Given the description of an element on the screen output the (x, y) to click on. 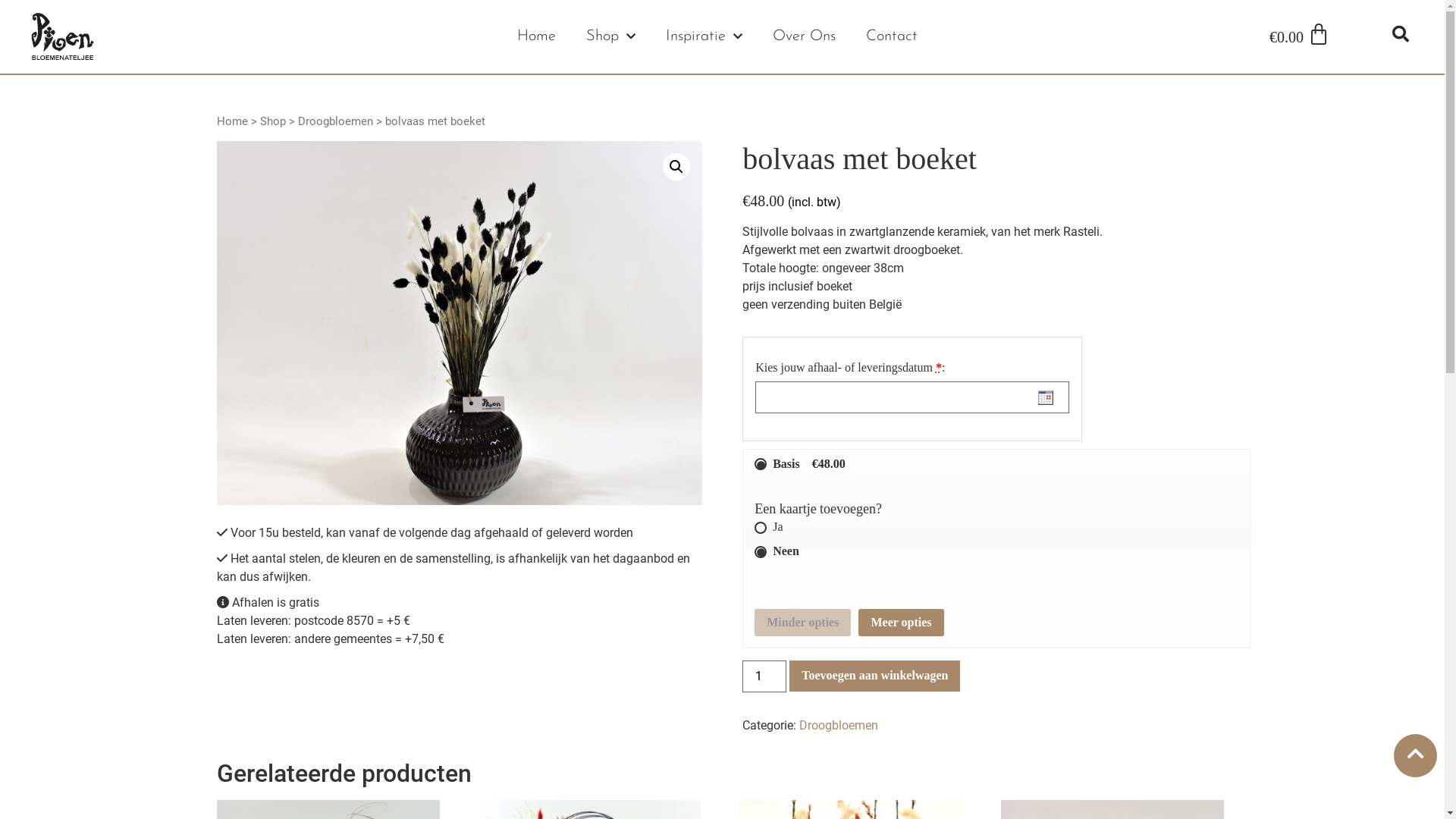
Meer opties Element type: text (900, 622)
Over Ons Element type: text (803, 35)
Home Element type: text (231, 121)
Home Element type: text (536, 35)
Contact Element type: text (891, 35)
Minder opties Element type: text (802, 622)
Droogbloemen Element type: text (335, 121)
Zwarte-bolvaas Element type: hover (459, 323)
Shop Element type: text (610, 35)
Toevoegen aan winkelwagen Element type: text (874, 675)
Inspiratie Element type: text (703, 35)
Shop Element type: text (272, 121)
Droogbloemen Element type: text (838, 725)
